Given the description of an element on the screen output the (x, y) to click on. 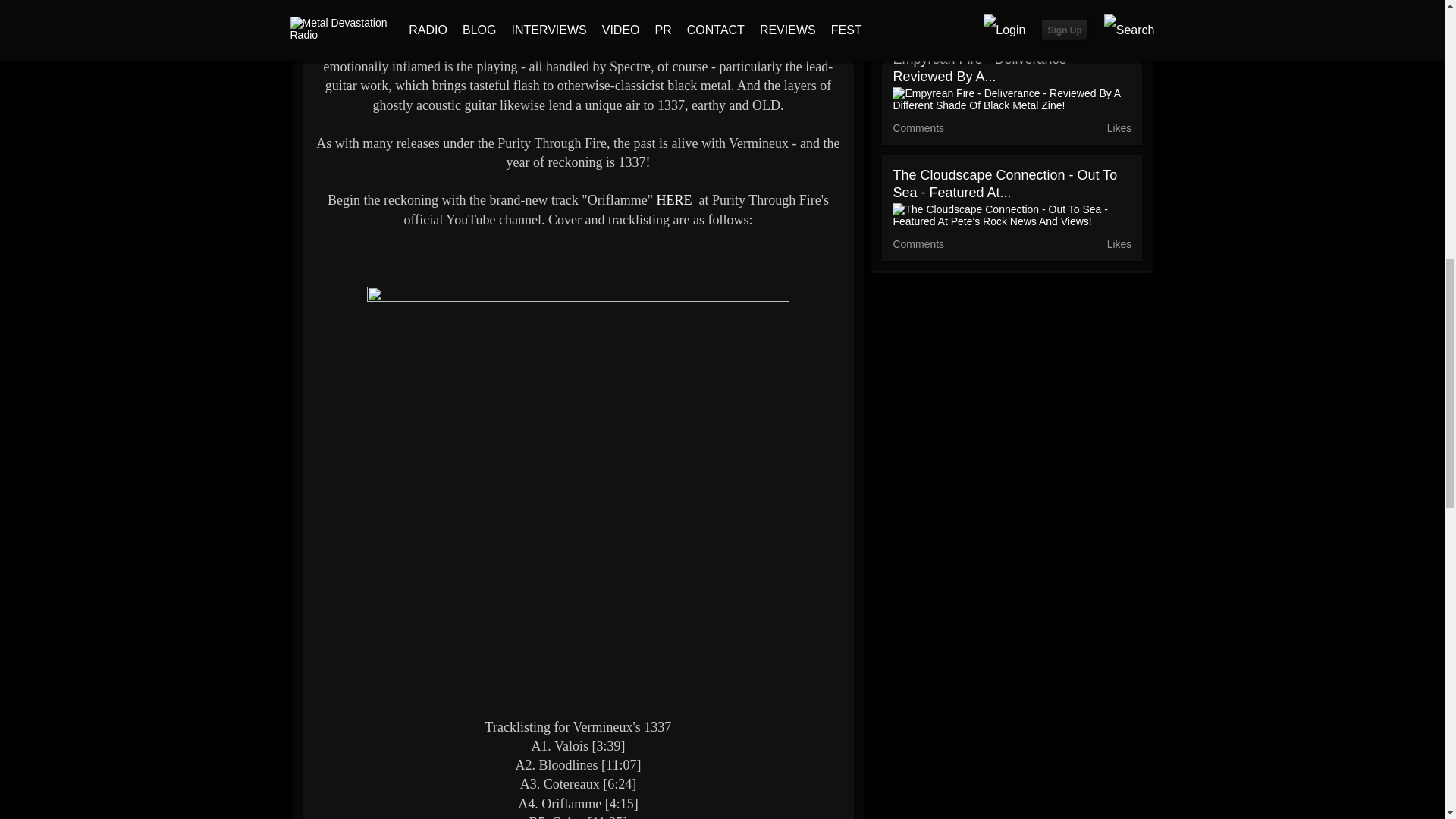
HERE (674, 200)
